Given the description of an element on the screen output the (x, y) to click on. 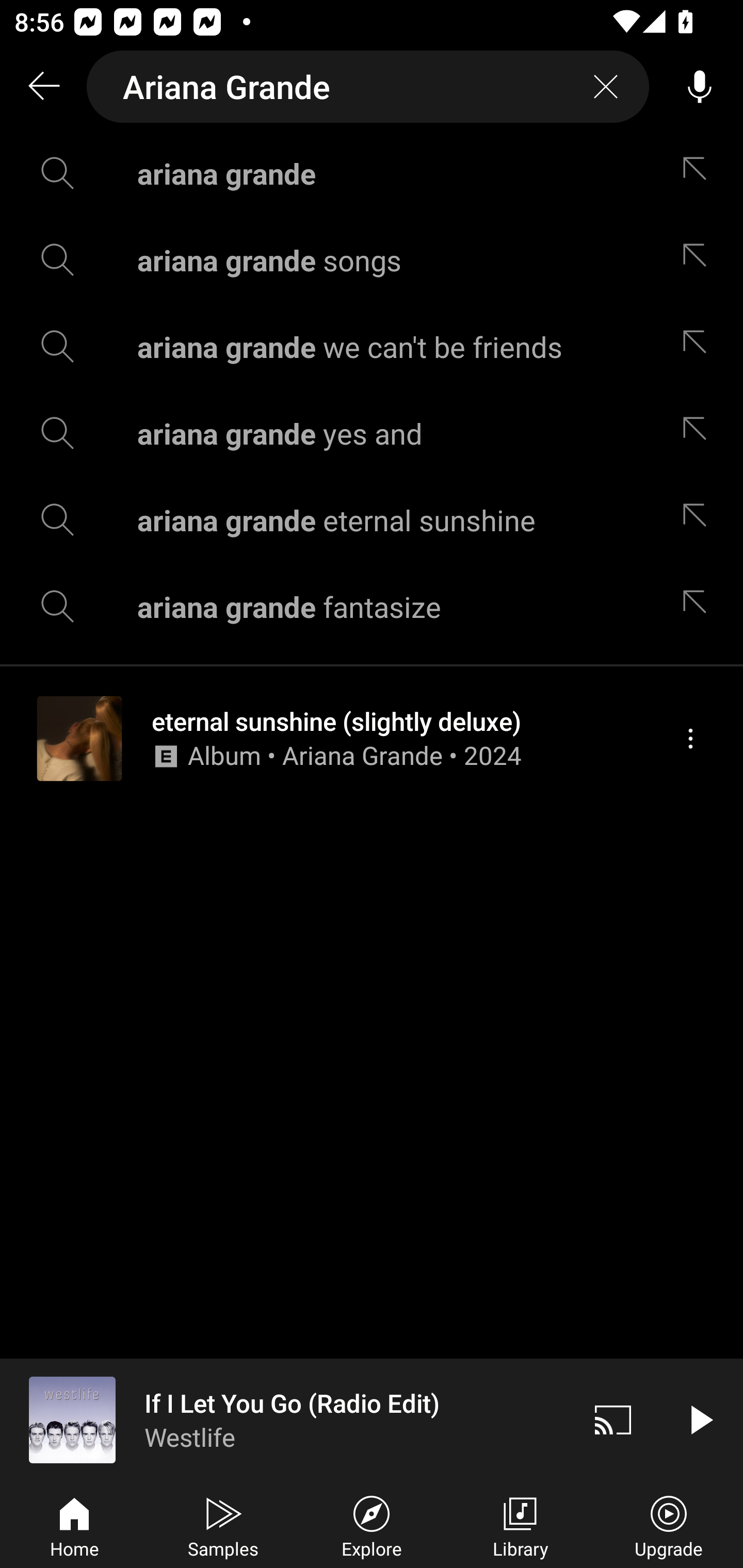
Search back (43, 86)
Ariana Grande (367, 86)
Clear search (605, 86)
Voice search (699, 86)
ariana grande Edit suggestion ariana grande (371, 173)
Edit suggestion ariana grande (699, 173)
Edit suggestion ariana grande songs (699, 259)
Edit suggestion ariana grande we can't be friends (699, 346)
Edit suggestion ariana grande yes and (699, 433)
Edit suggestion ariana grande eternal sunshine (699, 519)
Edit suggestion ariana grande fantasize (699, 605)
Menu (690, 738)
If I Let You Go (Radio Edit) Westlife (284, 1419)
Cast. Disconnected (612, 1419)
Play video (699, 1419)
Home (74, 1524)
Samples (222, 1524)
Explore (371, 1524)
Library (519, 1524)
Upgrade (668, 1524)
